Given the description of an element on the screen output the (x, y) to click on. 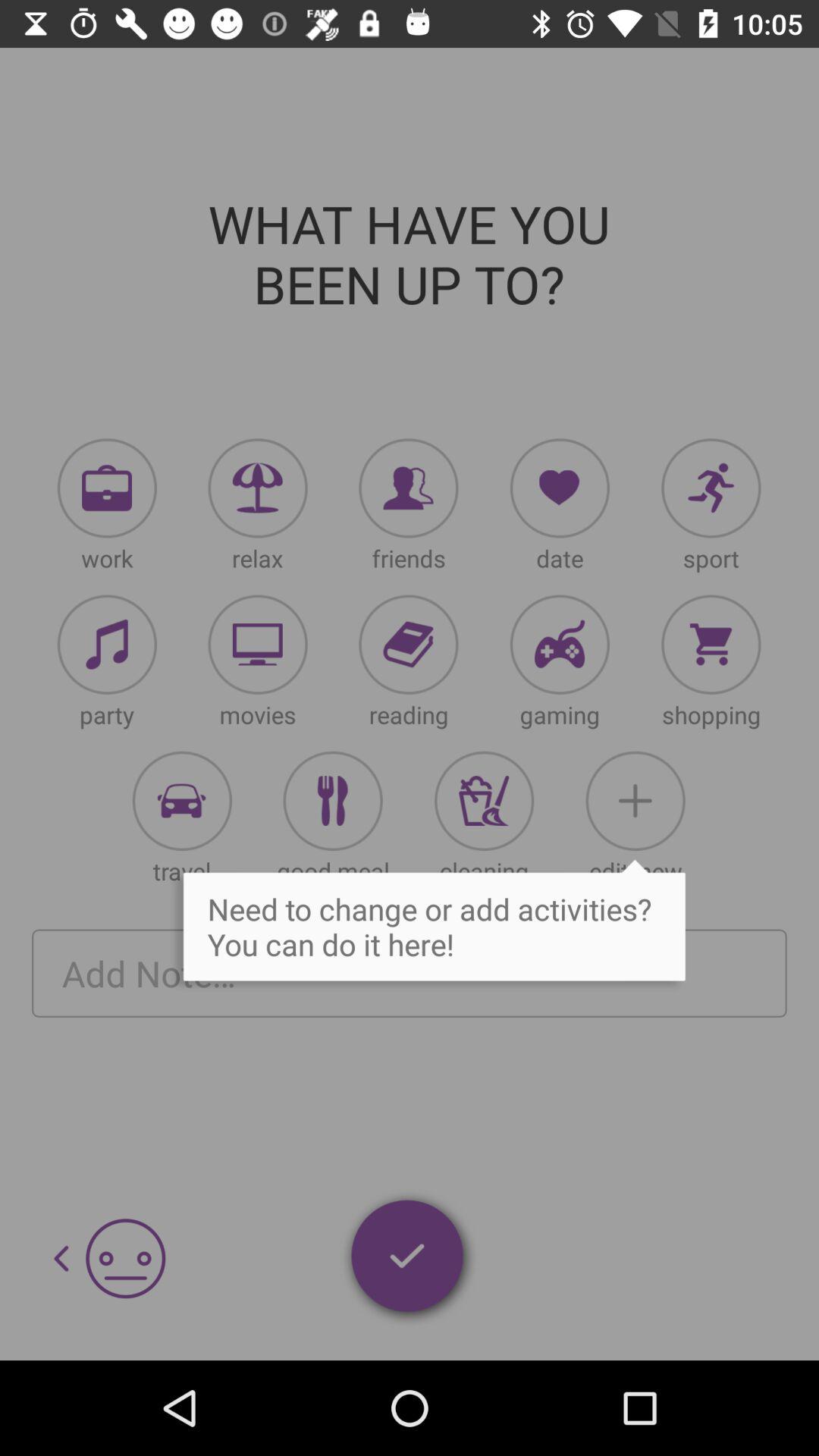
featured link (257, 644)
